Given the description of an element on the screen output the (x, y) to click on. 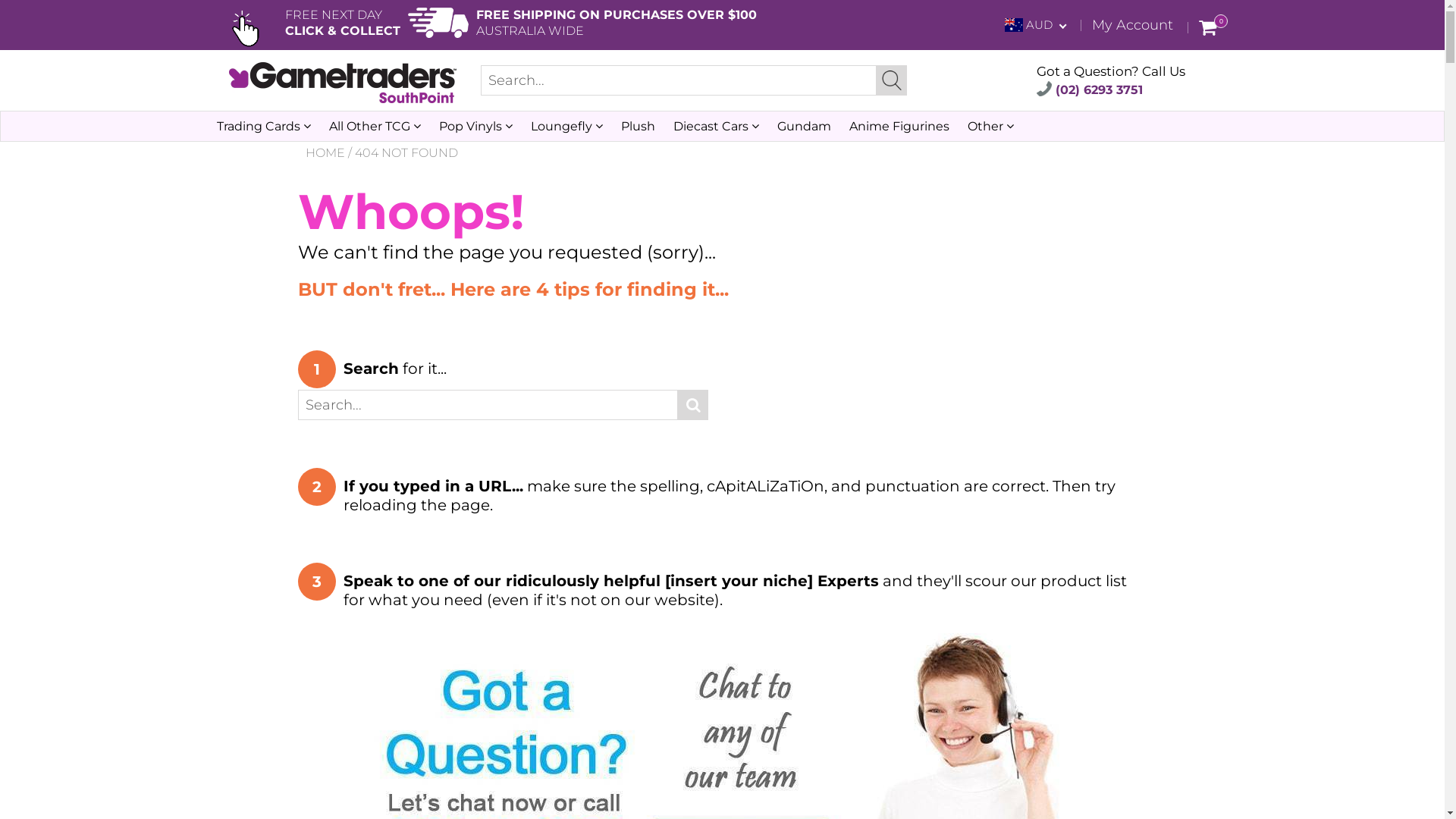
(02) 6293 3751 Element type: text (1088, 89)
0 Element type: text (1207, 27)
HOME Element type: text (324, 152)
Loungefly Element type: text (566, 126)
Diecast Cars Element type: text (716, 126)
All Other TCG Element type: text (374, 126)
Plush Element type: text (637, 126)
Pop Vinyls Element type: text (474, 126)
Gundam Element type: text (803, 126)
Anime Figurines Element type: text (899, 126)
Other Element type: text (990, 126)
Trading Cards Element type: text (263, 126)
My Account Element type: text (1132, 24)
